Given the description of an element on the screen output the (x, y) to click on. 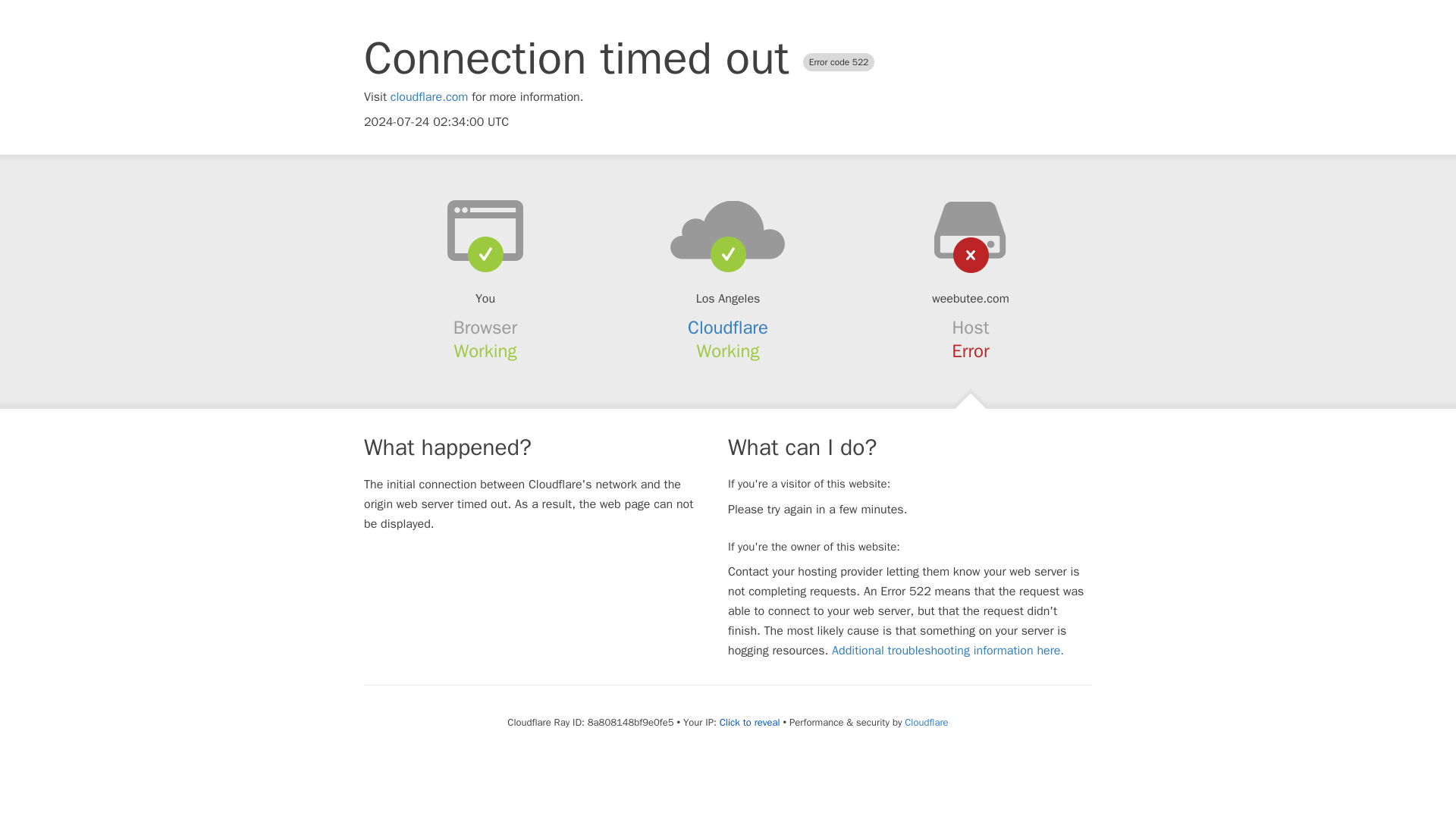
Cloudflare (925, 721)
cloudflare.com (429, 96)
Cloudflare (727, 327)
Click to reveal (749, 722)
Additional troubleshooting information here. (947, 650)
